Given the description of an element on the screen output the (x, y) to click on. 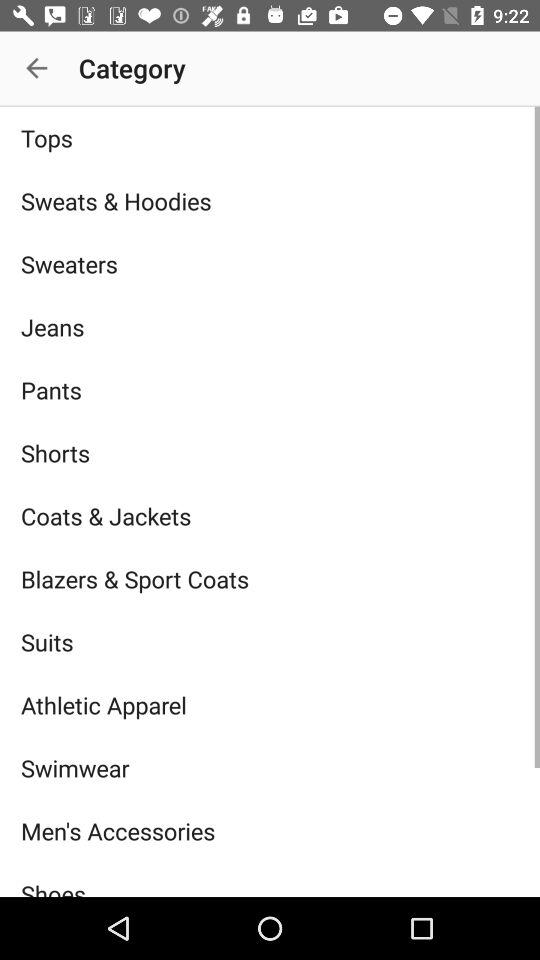
select shoes item (270, 879)
